Given the description of an element on the screen output the (x, y) to click on. 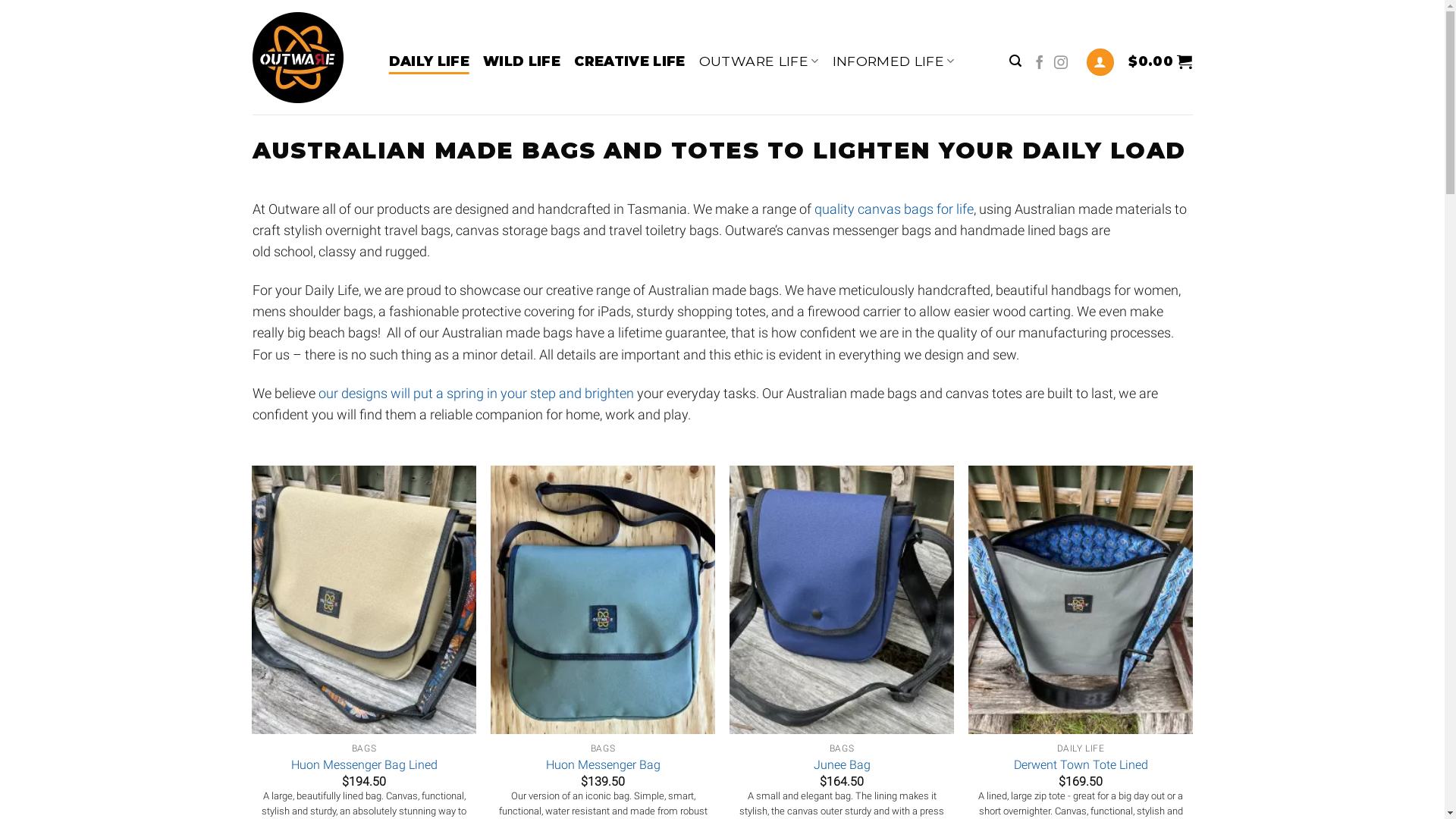
Outware Element type: hover (308, 57)
DAILY LIFE Element type: text (428, 60)
CREATIVE LIFE Element type: text (629, 60)
Huon Messenger Bag Element type: text (603, 765)
Follow on Instagram Element type: hover (1060, 63)
WILD LIFE Element type: text (521, 60)
OUTWARE LIFE Element type: text (759, 60)
Derwent Town Tote Lined Element type: text (1080, 765)
our designs will put a spring in your step and brighten Element type: text (475, 393)
INFORMED LIFE Element type: text (893, 60)
Follow on Facebook Element type: hover (1039, 63)
$0.00 Element type: text (1160, 60)
quality canvas bags for life Element type: text (893, 208)
Huon Messenger Bag Lined Element type: text (364, 765)
Junee Bag Element type: text (840, 765)
